Given the description of an element on the screen output the (x, y) to click on. 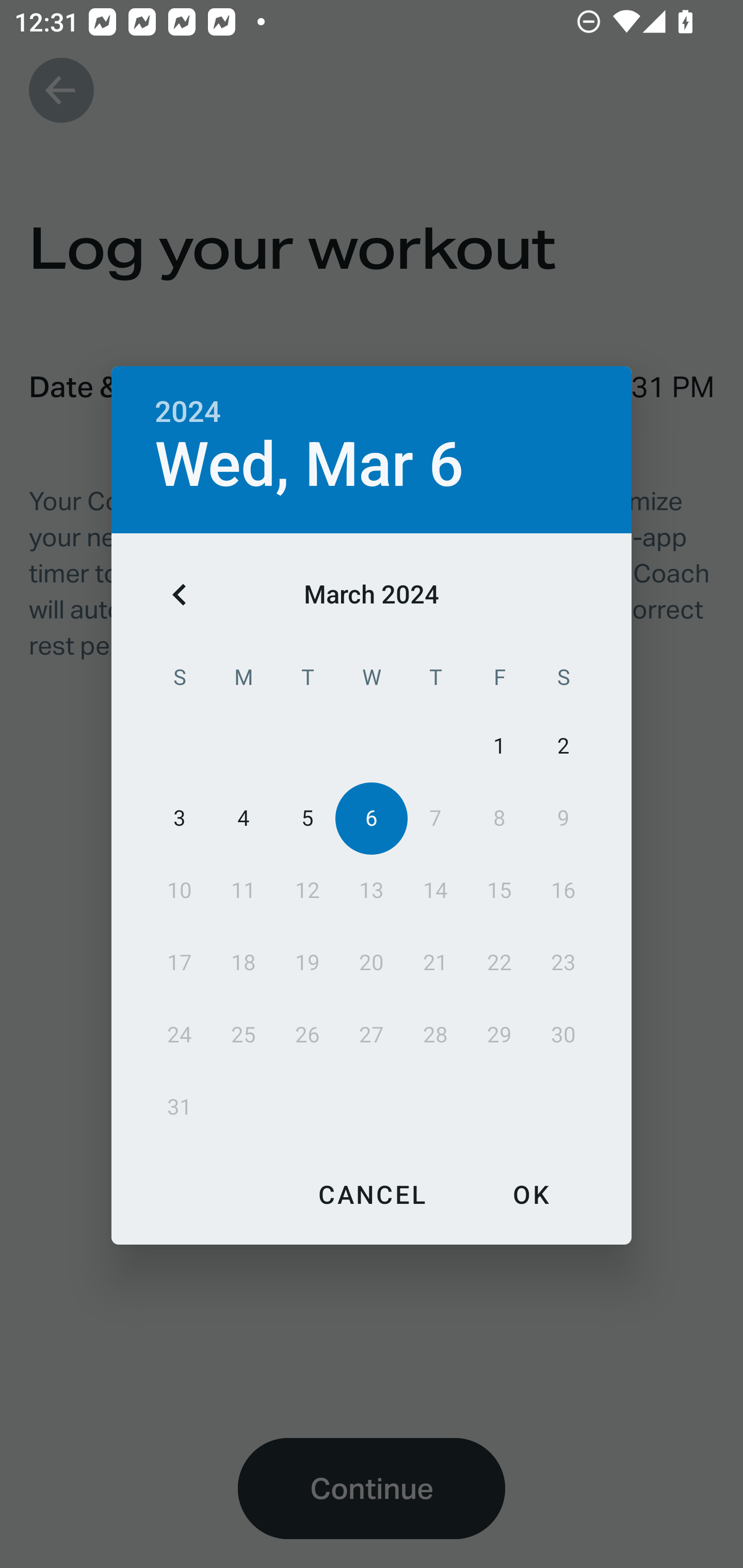
2024 (187, 412)
Wed, Mar 6 (309, 464)
Previous month (178, 594)
1 01 March 2024 (499, 746)
2 02 March 2024 (563, 746)
3 03 March 2024 (179, 818)
4 04 March 2024 (243, 818)
5 05 March 2024 (307, 818)
6 06 March 2024 (371, 818)
7 07 March 2024 (435, 818)
8 08 March 2024 (499, 818)
9 09 March 2024 (563, 818)
10 10 March 2024 (179, 890)
11 11 March 2024 (243, 890)
12 12 March 2024 (307, 890)
13 13 March 2024 (371, 890)
14 14 March 2024 (435, 890)
15 15 March 2024 (499, 890)
16 16 March 2024 (563, 890)
17 17 March 2024 (179, 962)
18 18 March 2024 (243, 962)
19 19 March 2024 (307, 962)
20 20 March 2024 (371, 962)
21 21 March 2024 (435, 962)
22 22 March 2024 (499, 962)
23 23 March 2024 (563, 962)
24 24 March 2024 (179, 1034)
25 25 March 2024 (243, 1034)
26 26 March 2024 (307, 1034)
27 27 March 2024 (371, 1034)
28 28 March 2024 (435, 1034)
29 29 March 2024 (499, 1034)
30 30 March 2024 (563, 1034)
31 31 March 2024 (179, 1106)
CANCEL (371, 1193)
OK (530, 1193)
